Given the description of an element on the screen output the (x, y) to click on. 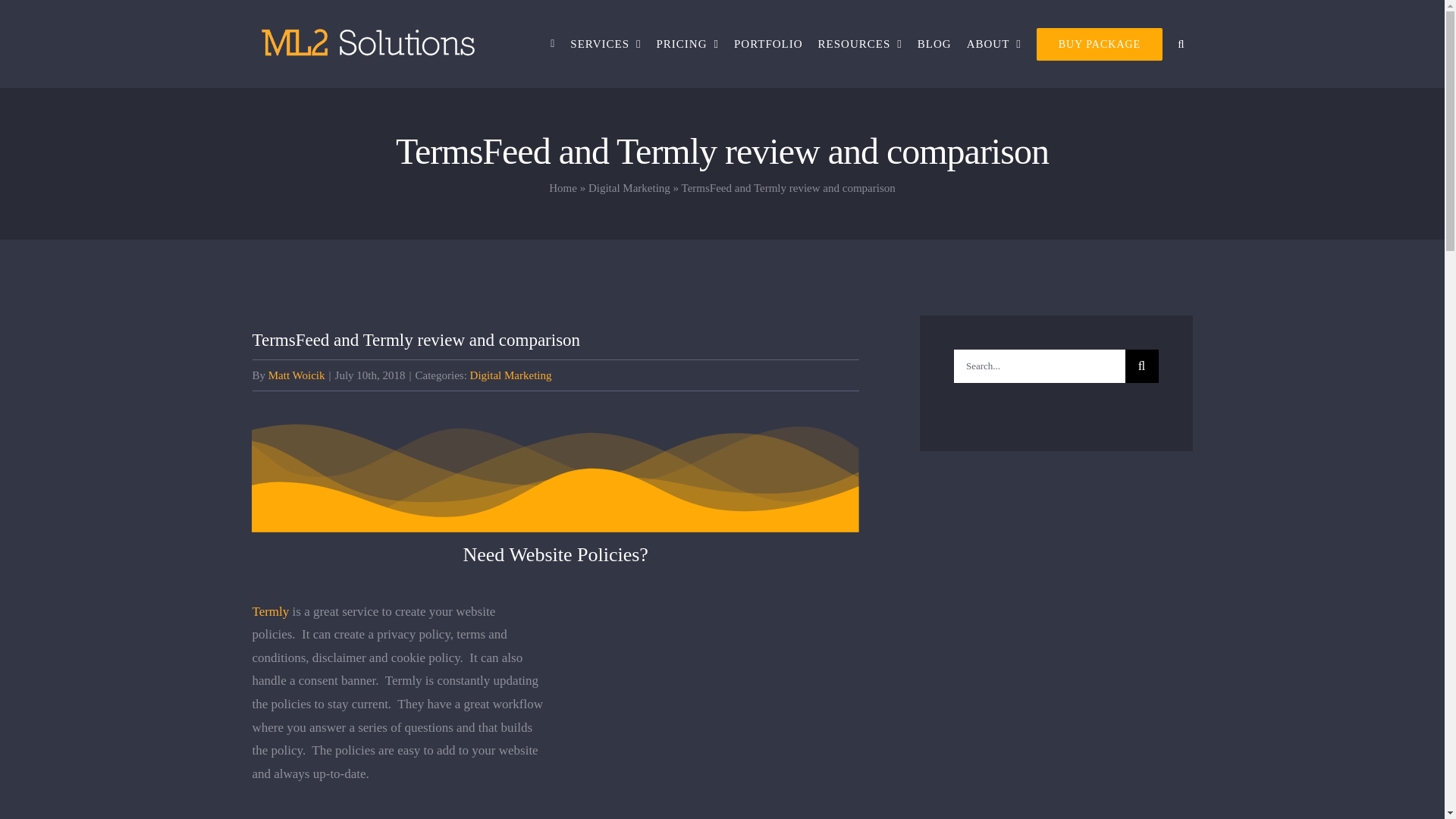
PORTFOLIO (768, 43)
Posts by Matt Woicik (295, 375)
RESOURCES (860, 43)
SERVICES (604, 43)
